Given the description of an element on the screen output the (x, y) to click on. 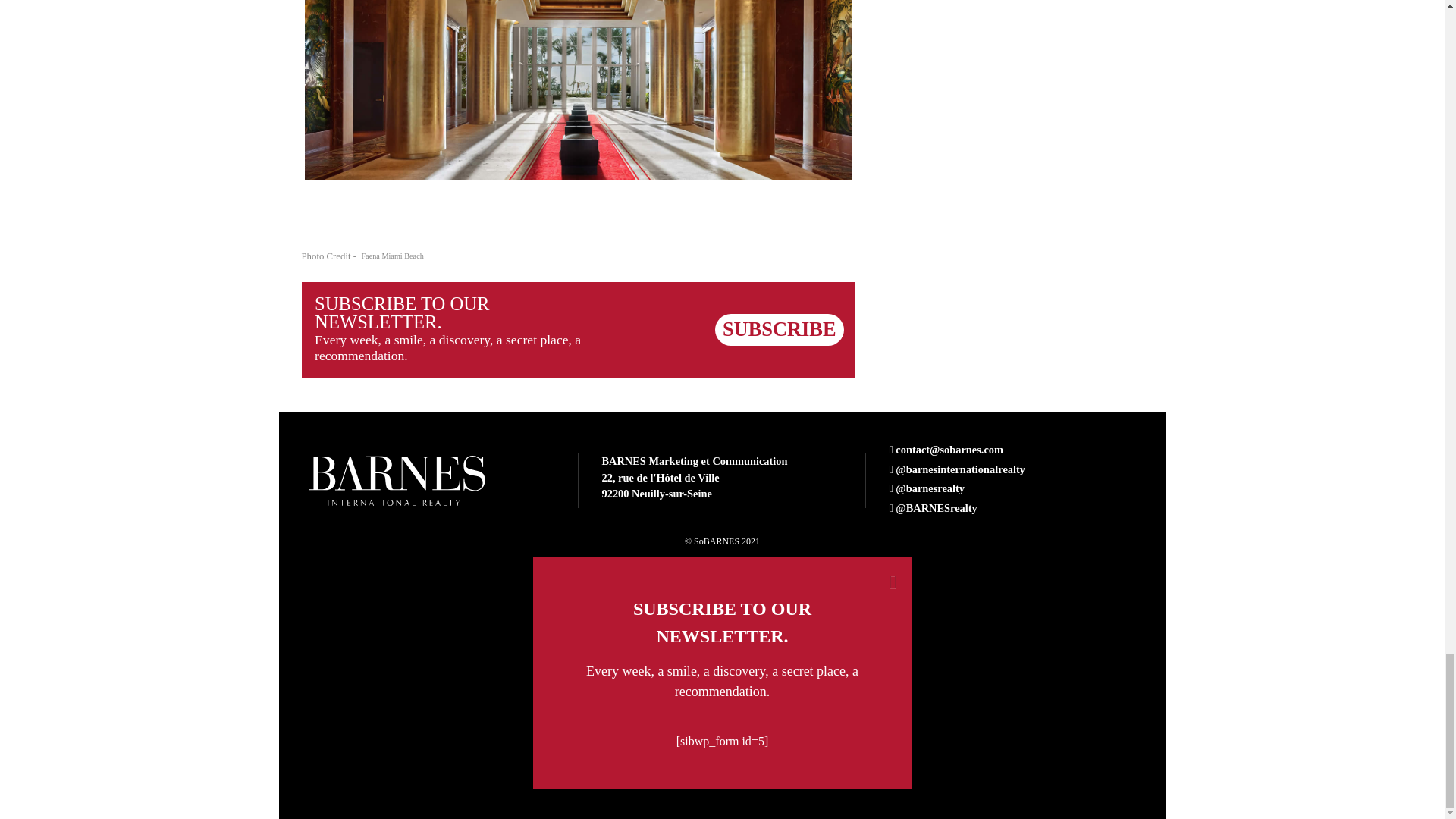
Faena Miami Beach (392, 256)
